Given the description of an element on the screen output the (x, y) to click on. 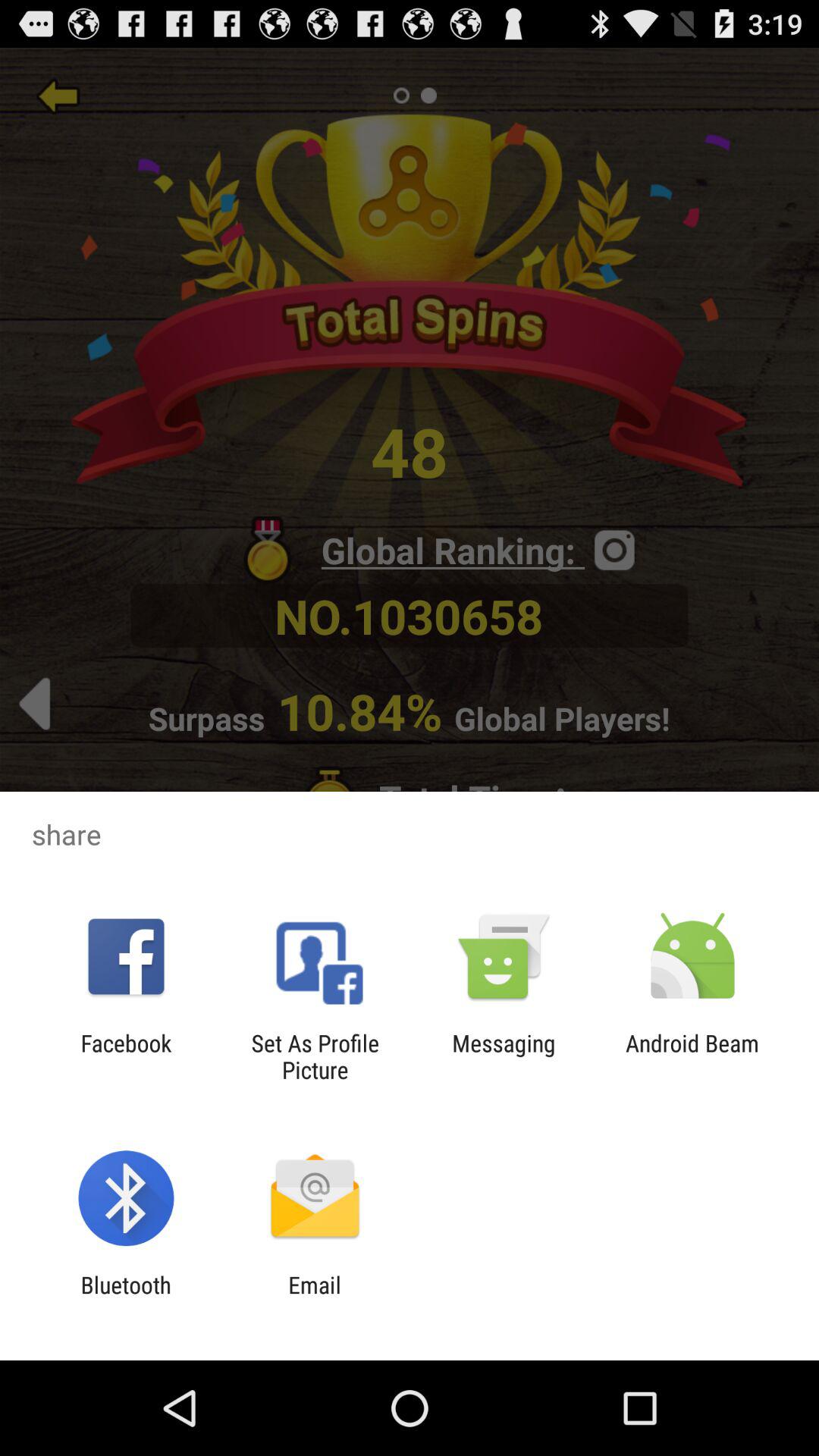
tap the icon to the left of the messaging (314, 1056)
